Given the description of an element on the screen output the (x, y) to click on. 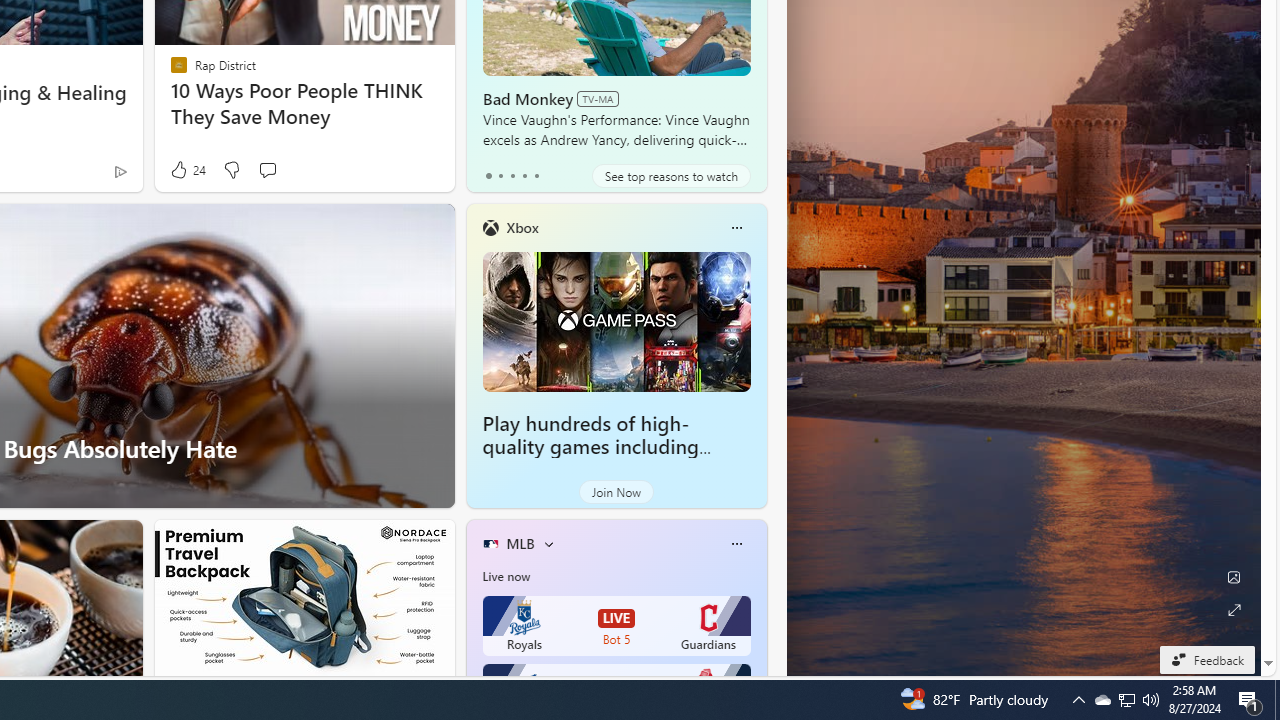
See top reasons to watch (671, 175)
Royals LIVE Bot 5 Guardians (616, 625)
Xbox (521, 227)
Expand background (1233, 610)
tab-2 (511, 175)
24 Like (186, 170)
More interests (548, 543)
Edit Background (1233, 577)
